Given the description of an element on the screen output the (x, y) to click on. 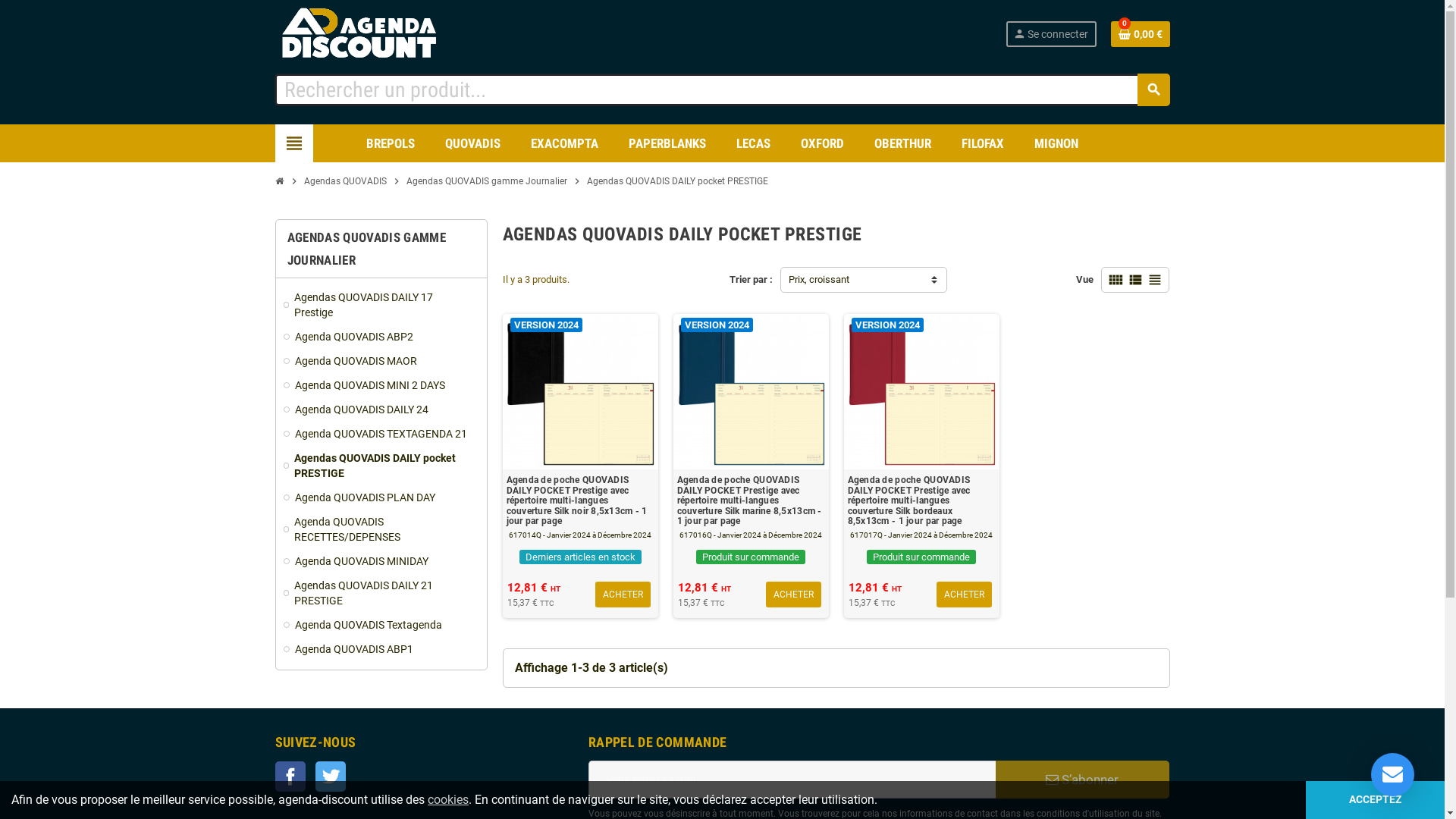
Agenda Discount semainiers et journaliers Element type: hover (374, 33)
search Element type: text (1153, 89)
Agendas QUOVADIS gamme Journalier Element type: text (485, 180)
LECAS Element type: text (752, 143)
view_headline Element type: text (1154, 279)
Agendas QUOVADIS DAILY 21 PRESTIGE Element type: text (381, 592)
Agenda QUOVADIS MINI 2 DAYS Element type: text (381, 384)
Agendas QUOVADIS DAILY pocket PRESTIGE Element type: text (381, 465)
cookies Element type: text (447, 799)
Agenda QUOVADIS ABP1 Element type: text (381, 648)
Agenda QUOVADIS MINIDAY Element type: text (381, 560)
Agenda QUOVADIS DAILY 24 Element type: text (381, 409)
person
Se connecter Element type: text (1051, 33)
Twitter Element type: text (330, 776)
EXACOMPTA Element type: text (564, 143)
ACHETER Element type: text (622, 594)
OXFORD Element type: text (822, 143)
Agendas QUOVADIS DAILY 17 Prestige Element type: text (381, 304)
view_comfy Element type: text (1115, 279)
PAPERBLANKS Element type: text (667, 143)
Prix, croissant Element type: text (863, 279)
view_list Element type: text (1134, 279)
Agenda QUOVADIS TEXTAGENDA 21 Element type: text (381, 433)
QUOVADIS Element type: text (472, 143)
ACHETER Element type: text (793, 594)
BREPOLS Element type: text (390, 143)
Agenda QUOVADIS RECETTES/DEPENSES Element type: text (381, 529)
FILOFAX Element type: text (982, 143)
Agenda QUOVADIS Textagenda Element type: text (381, 624)
OBERTHUR Element type: text (902, 143)
ACHETER Element type: text (963, 594)
Agenda QUOVADIS PLAN DAY Element type: text (381, 497)
Agendas QUOVADIS Element type: text (345, 180)
Agenda QUOVADIS ABP2 Element type: text (381, 336)
MIGNON Element type: text (1055, 143)
Agenda QUOVADIS MAOR Element type: text (381, 360)
Facebook Element type: text (289, 776)
